Given the description of an element on the screen output the (x, y) to click on. 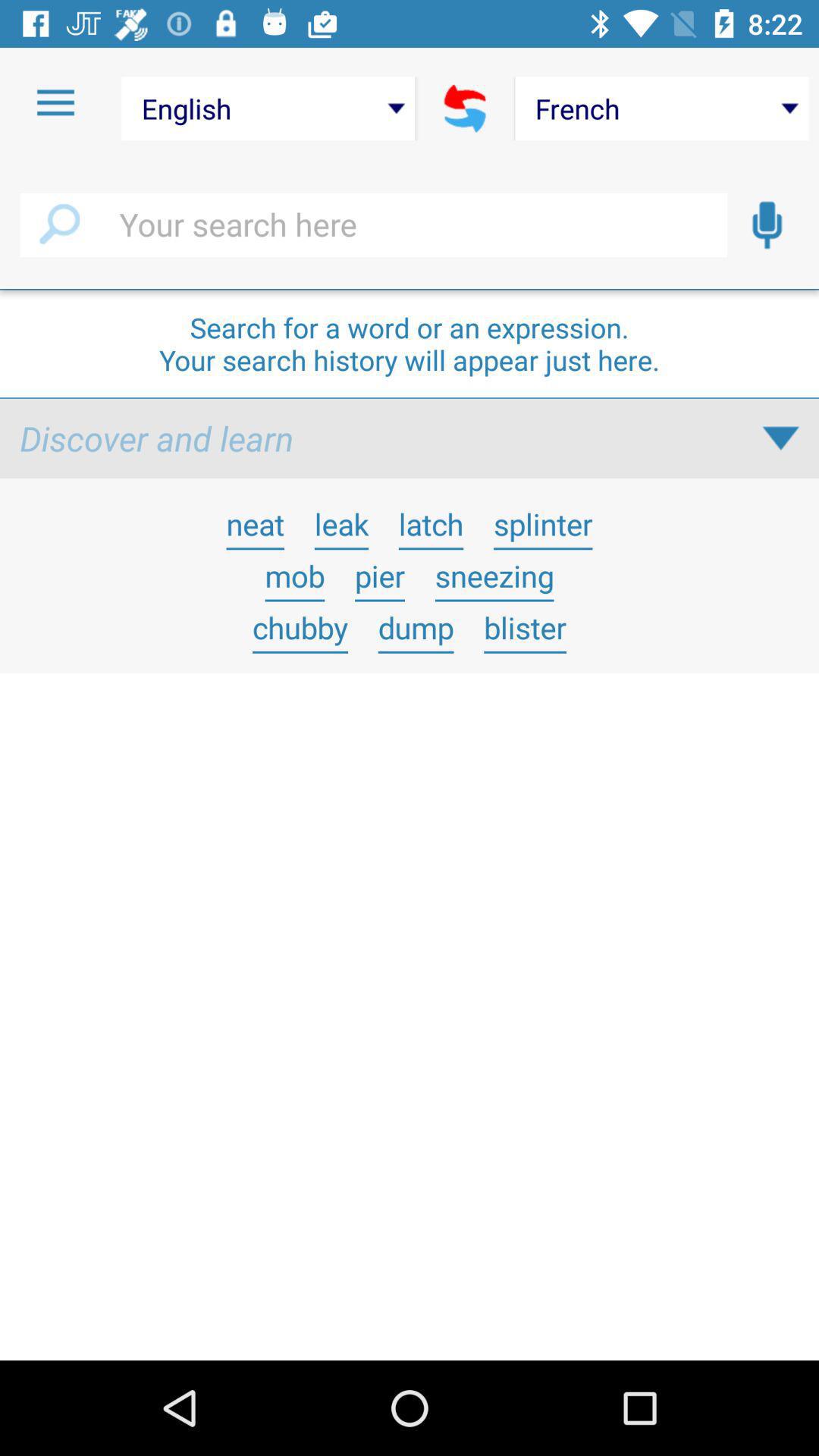
press item to the right of the chubby icon (415, 627)
